Given the description of an element on the screen output the (x, y) to click on. 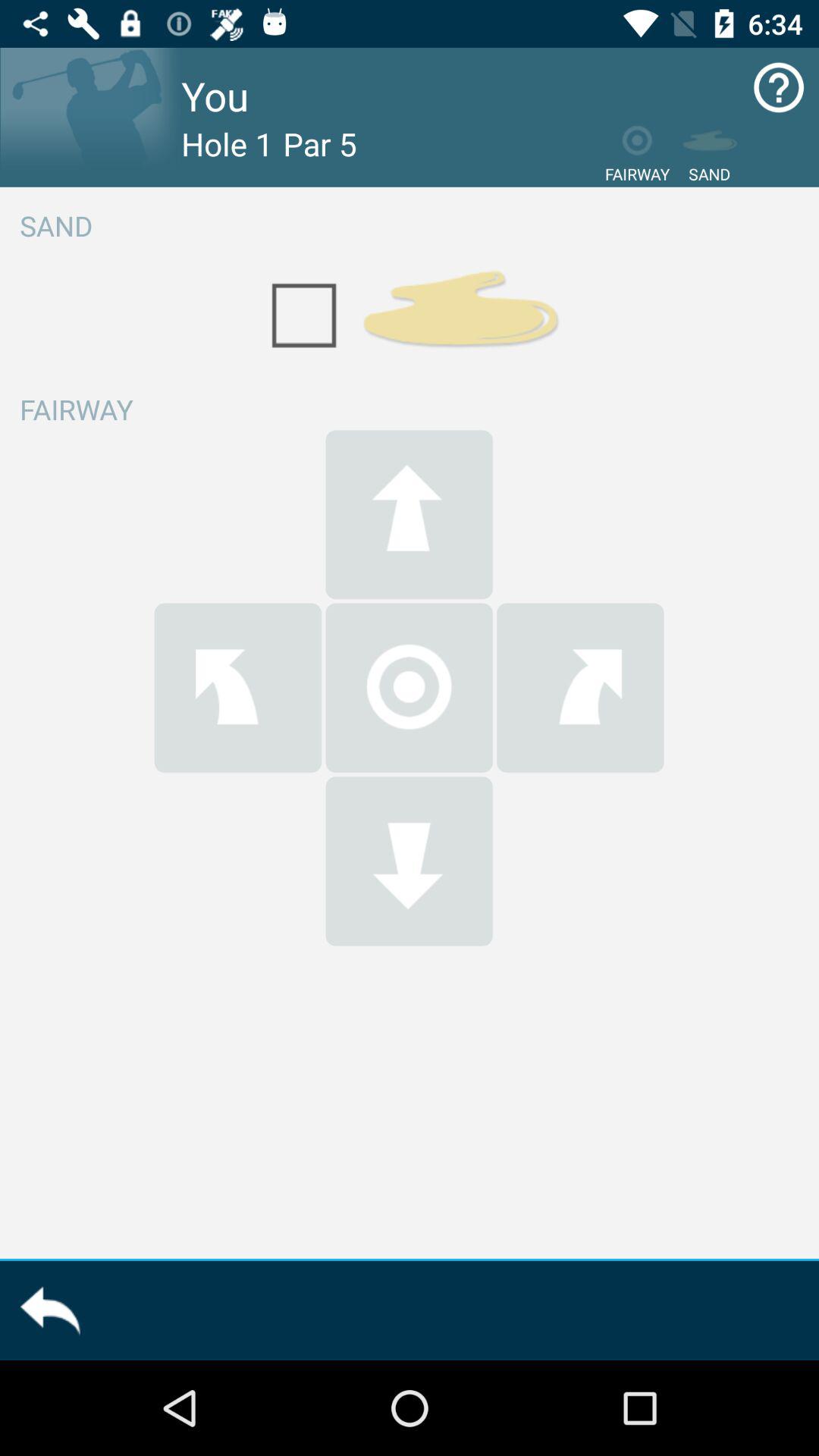
go left of the fairway (237, 687)
